Given the description of an element on the screen output the (x, y) to click on. 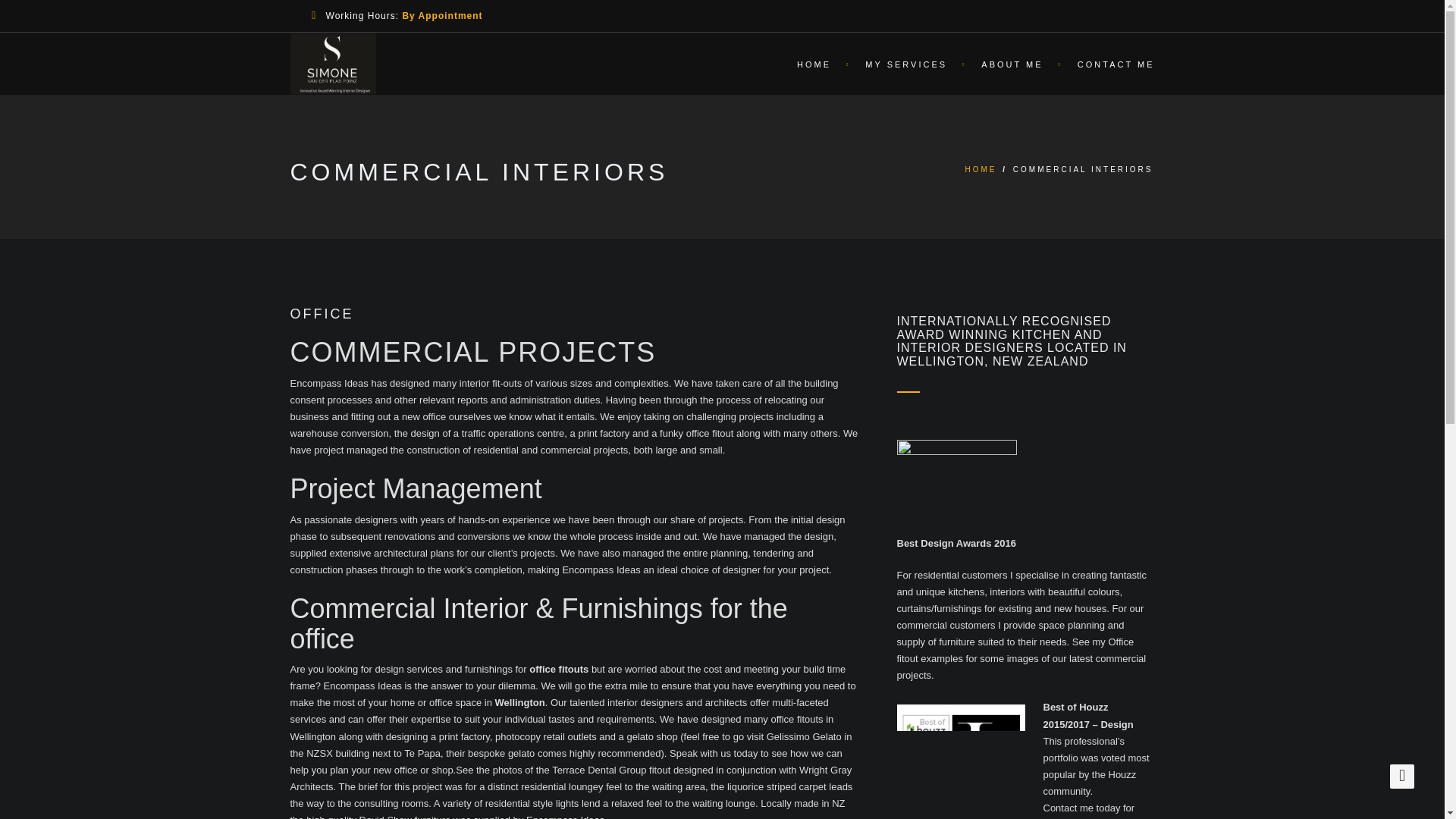
ABOUT ME (1013, 62)
Home (815, 62)
HOME (815, 62)
About Me (1013, 62)
CONTACT ME (1108, 62)
Contact Me (1108, 62)
MY SERVICES (908, 62)
HOME (981, 169)
My Services (908, 62)
